Given the description of an element on the screen output the (x, y) to click on. 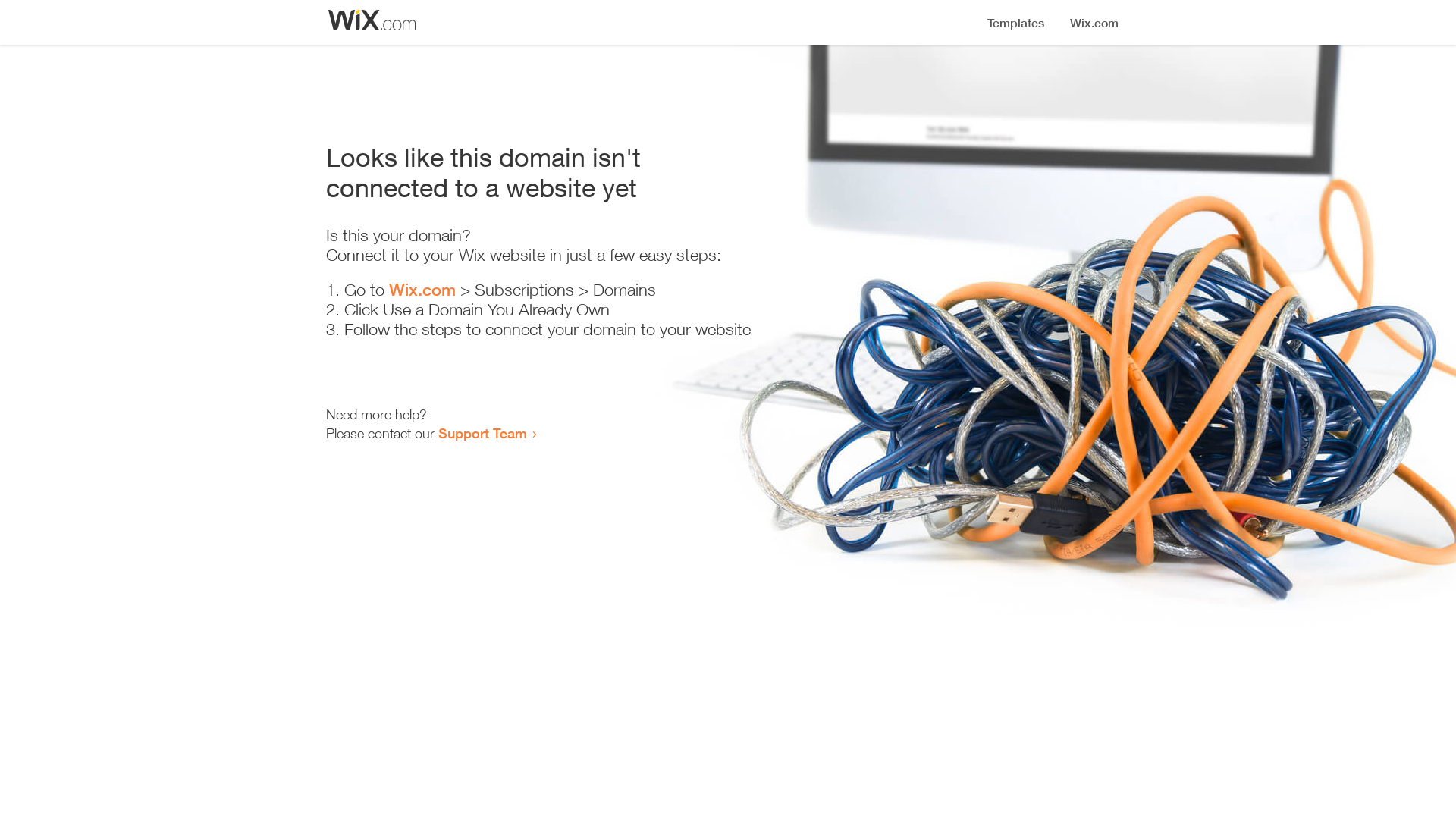
Support Team Element type: text (482, 432)
Wix.com Element type: text (422, 289)
